Given the description of an element on the screen output the (x, y) to click on. 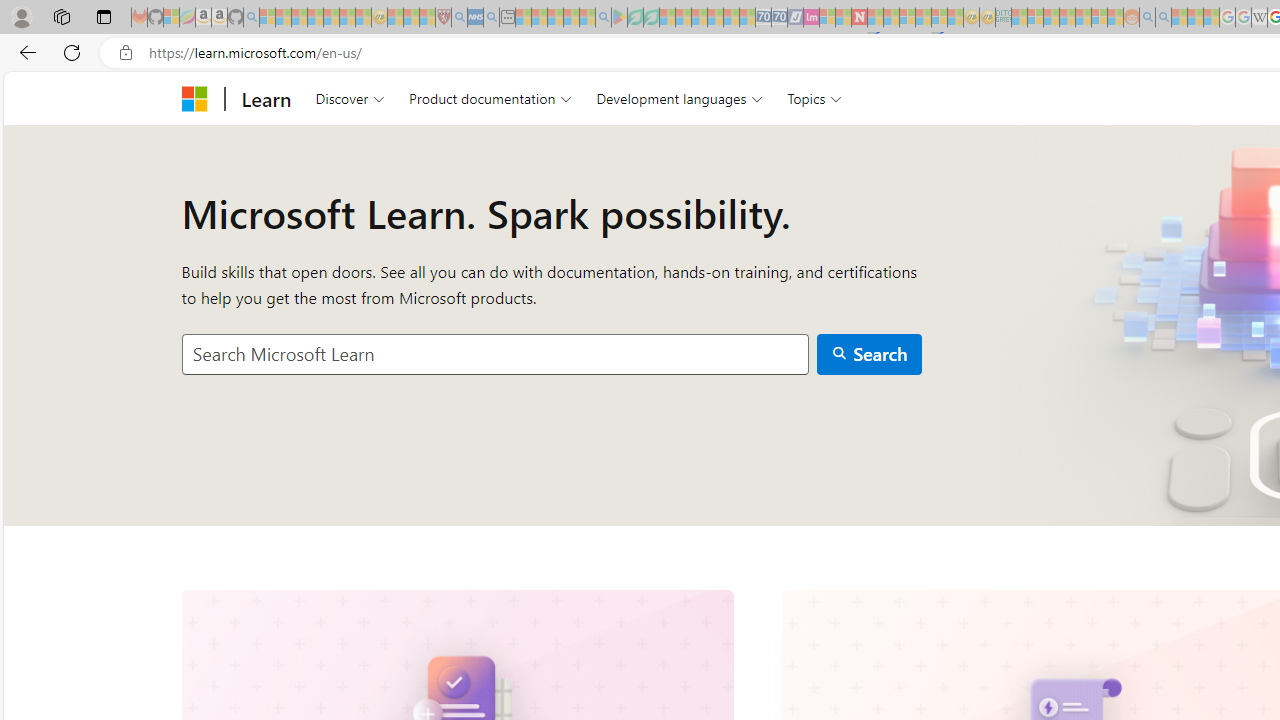
Product documentation (490, 98)
Product documentation (490, 98)
